Given the description of an element on the screen output the (x, y) to click on. 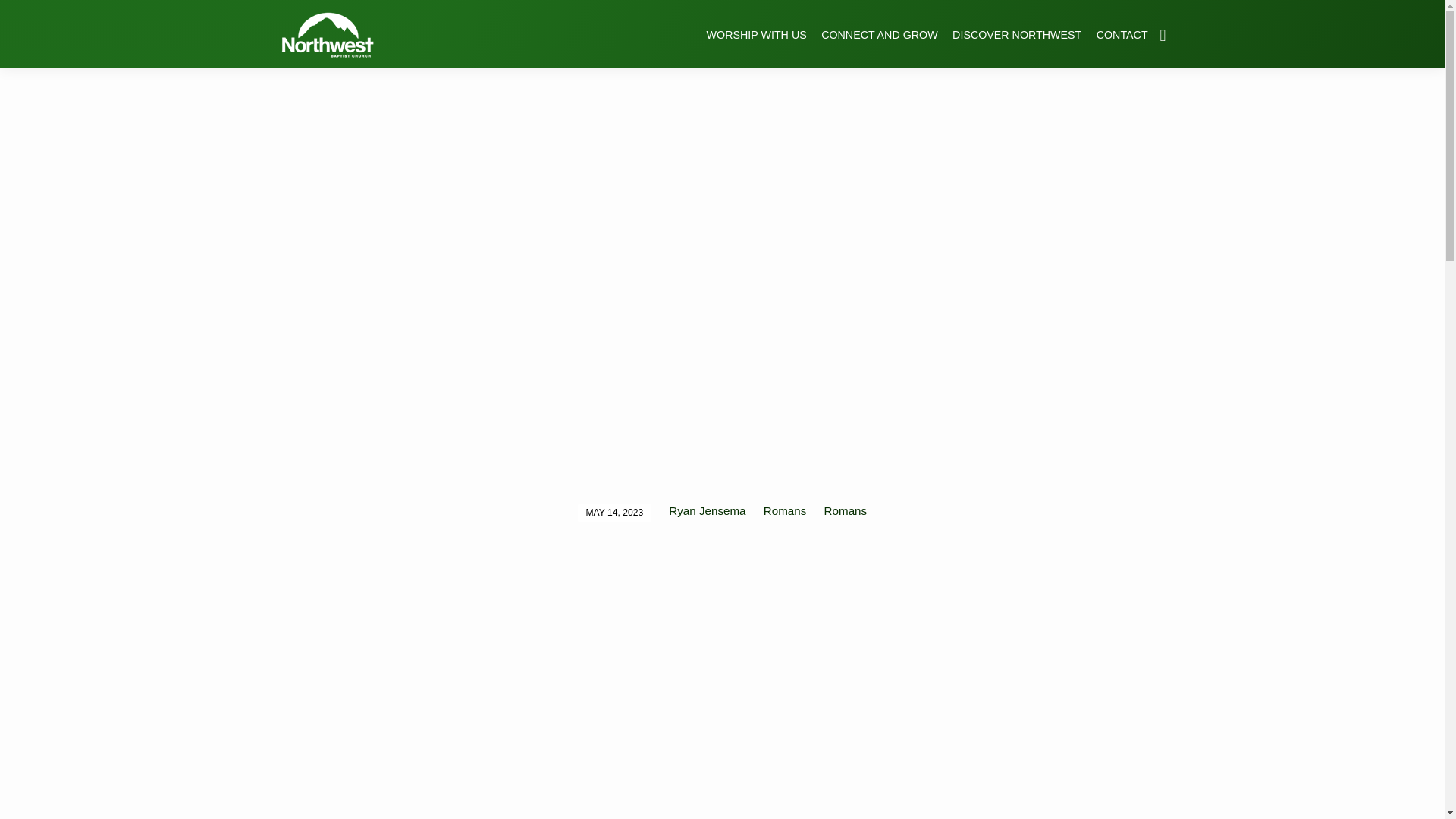
Romans (784, 510)
CONTACT (1122, 44)
Romans (845, 510)
CONNECT AND GROW (879, 44)
WORSHIP WITH US (756, 44)
Ryan Jensema (706, 510)
DISCOVER NORTHWEST (1016, 44)
